Given the description of an element on the screen output the (x, y) to click on. 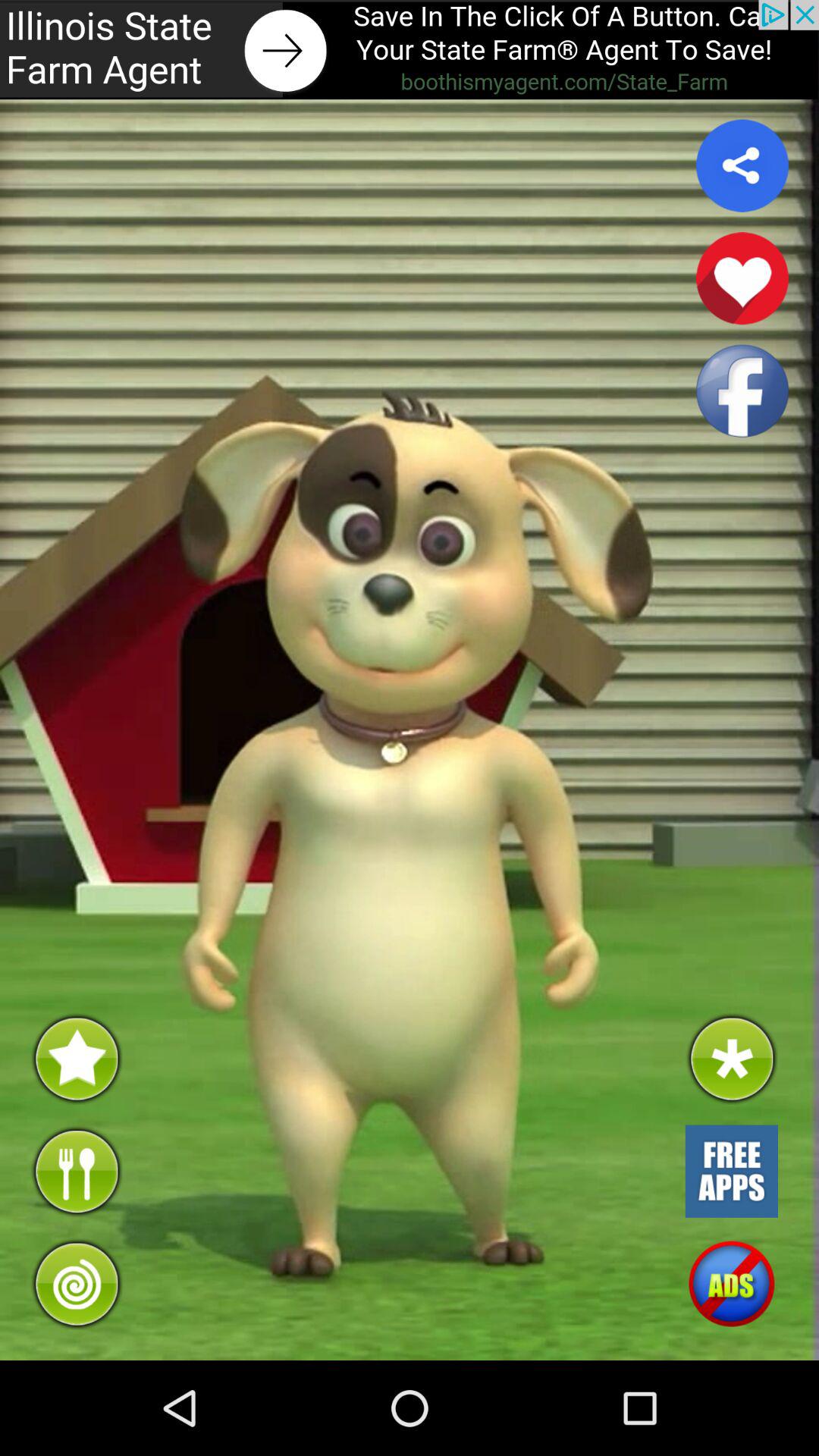
share option (742, 165)
